Given the description of an element on the screen output the (x, y) to click on. 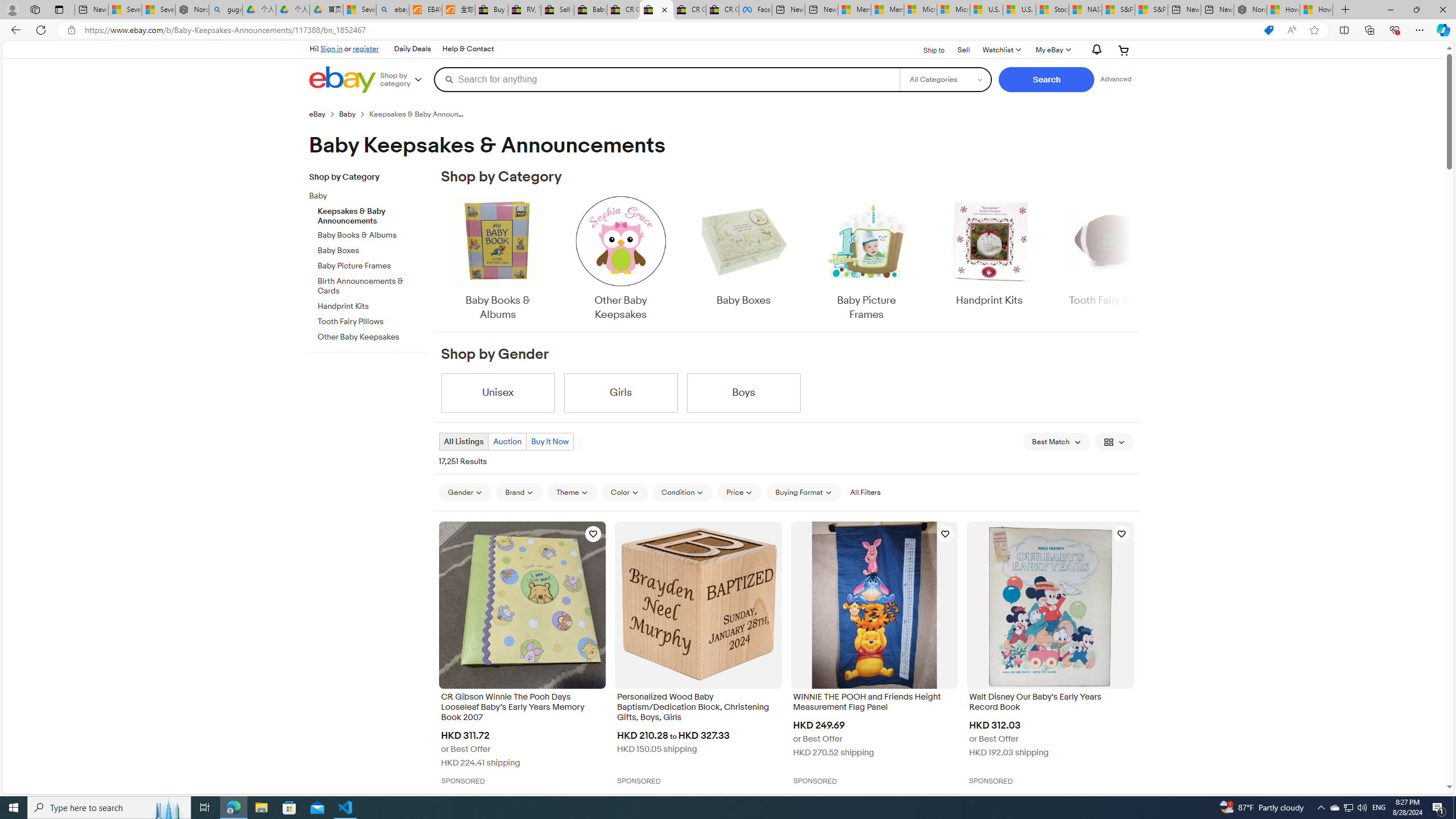
Handprint Kits (988, 258)
Collections (1369, 29)
Refresh (40, 29)
eBay Home (341, 79)
RV, Trailer & Camper Steps & Ladders for sale | eBay (524, 9)
Baby Books & Albums (497, 258)
Browser essentials (1394, 29)
Ship to (926, 49)
View site information (70, 29)
How to Use a Monitor With Your Closed Laptop (1316, 9)
Baby (371, 194)
Close (1442, 9)
